Given the description of an element on the screen output the (x, y) to click on. 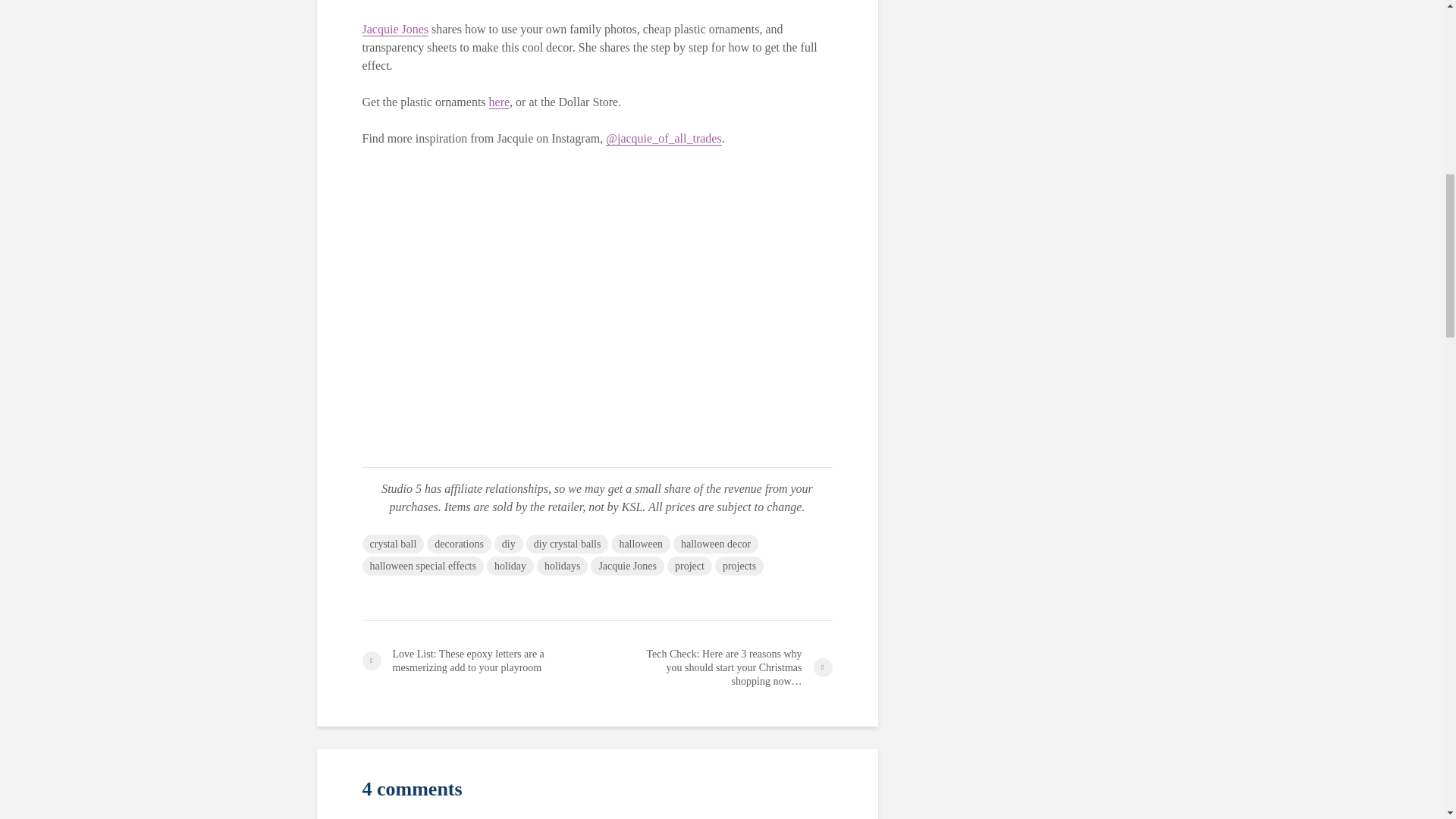
halloween (640, 543)
holidays (562, 565)
Jacquie Jones (395, 29)
diy (508, 543)
halloween decor (715, 543)
decorations (459, 543)
diy crystal balls (566, 543)
projects (738, 565)
project (688, 565)
here (500, 101)
Jacquie Jones (627, 565)
halloween special effects (422, 565)
crystal ball (393, 543)
